Given the description of an element on the screen output the (x, y) to click on. 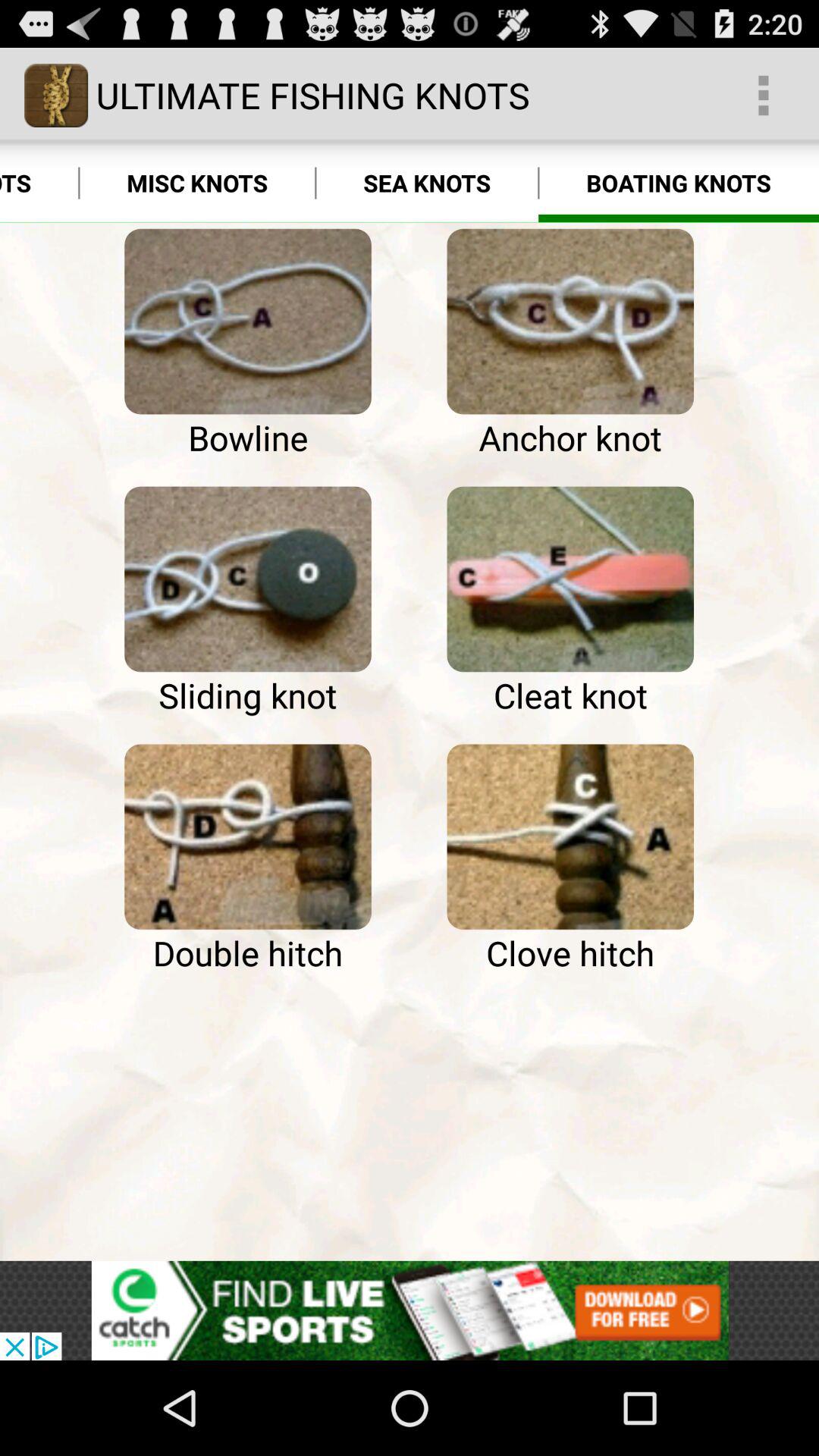
full double hitch tutorial (247, 836)
